Given the description of an element on the screen output the (x, y) to click on. 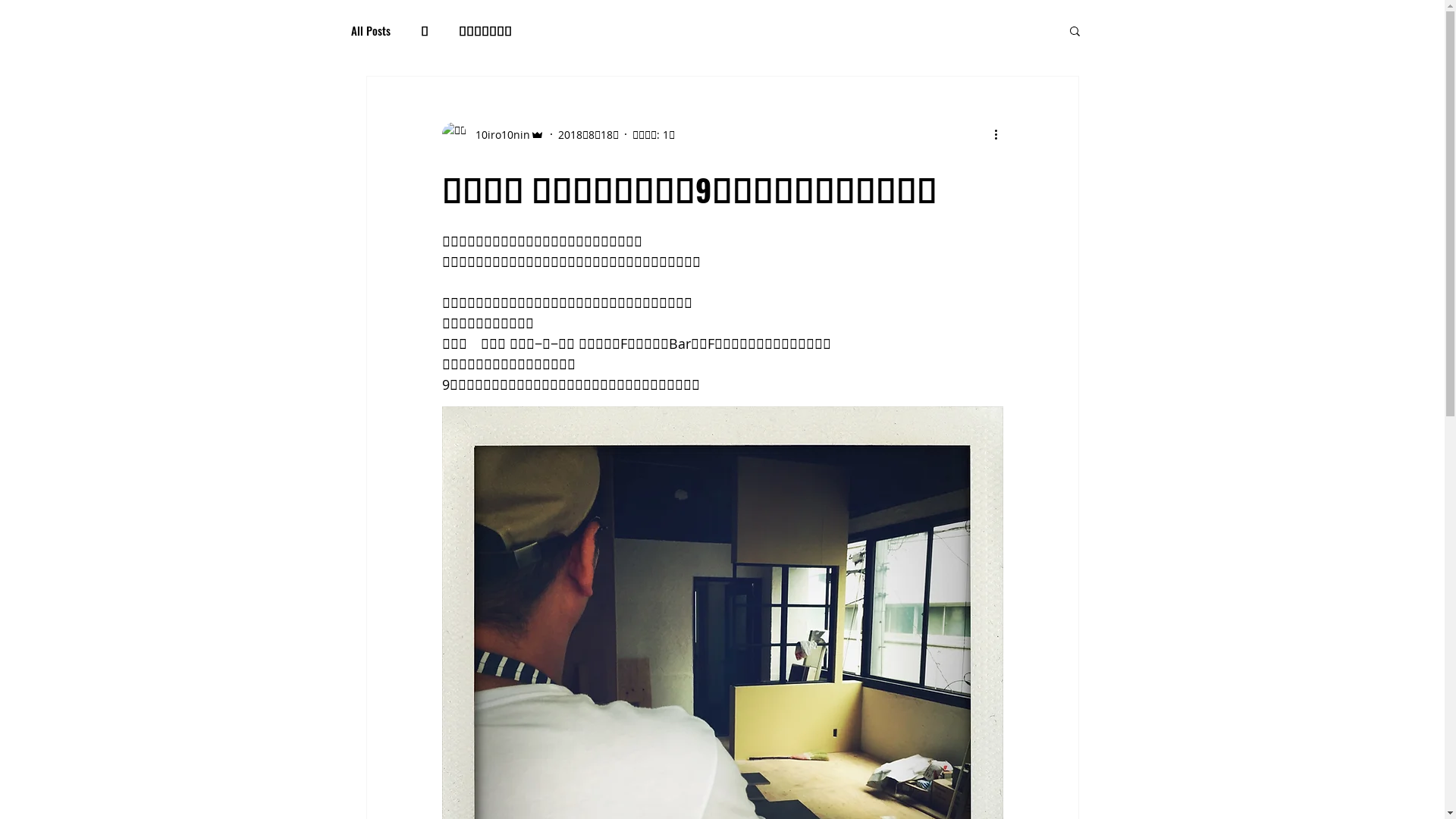
All Posts Element type: text (369, 29)
